Given the description of an element on the screen output the (x, y) to click on. 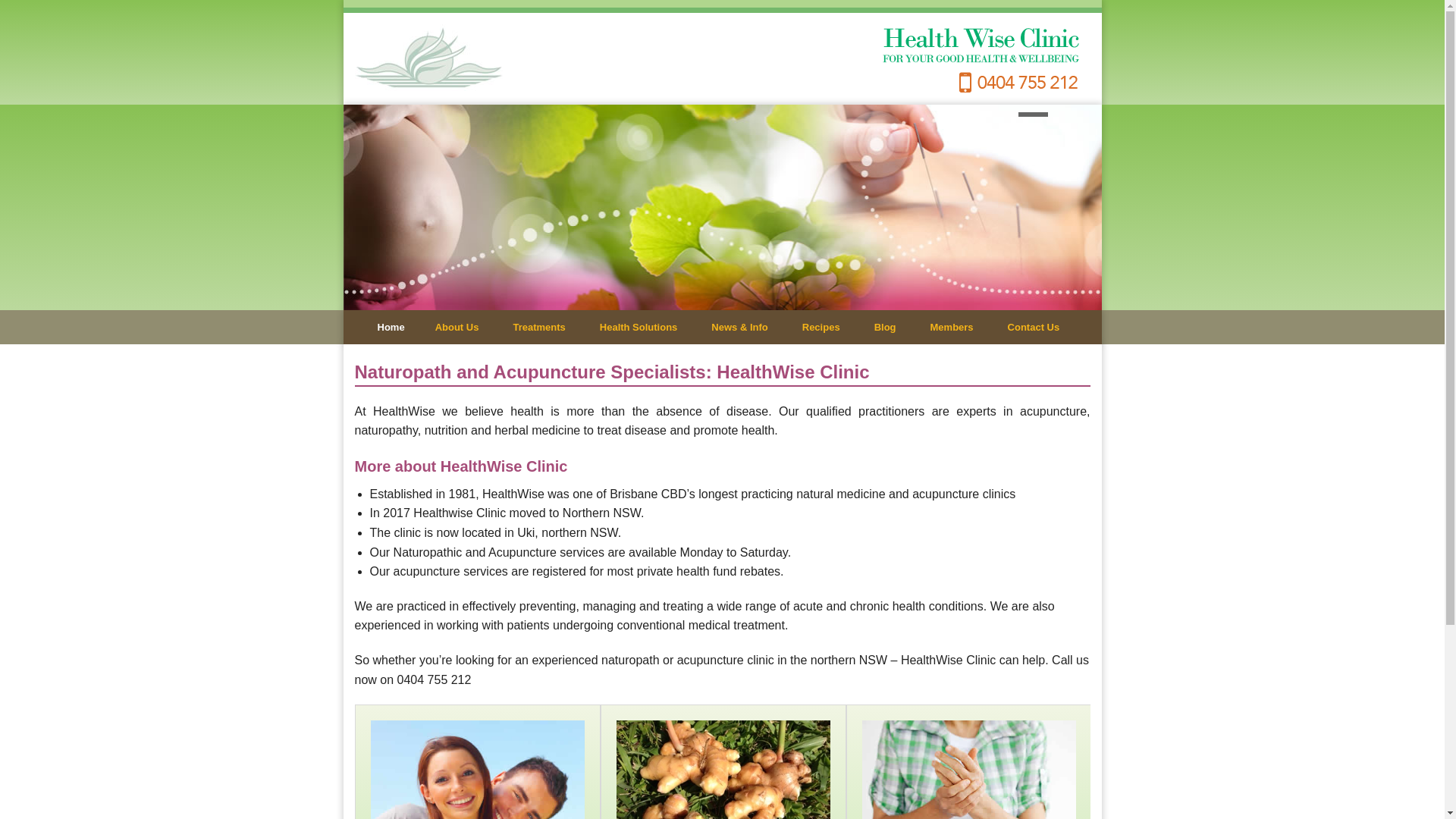
Home Element type: text (394, 327)
Health Solutions Element type: text (644, 327)
Recipes Element type: text (826, 327)
Members Element type: text (957, 327)
Contact Us Element type: text (1037, 327)
Blog Element type: text (890, 327)
About Us Element type: text (462, 327)
News & Info Element type: text (744, 327)
Treatments Element type: text (544, 327)
